Given the description of an element on the screen output the (x, y) to click on. 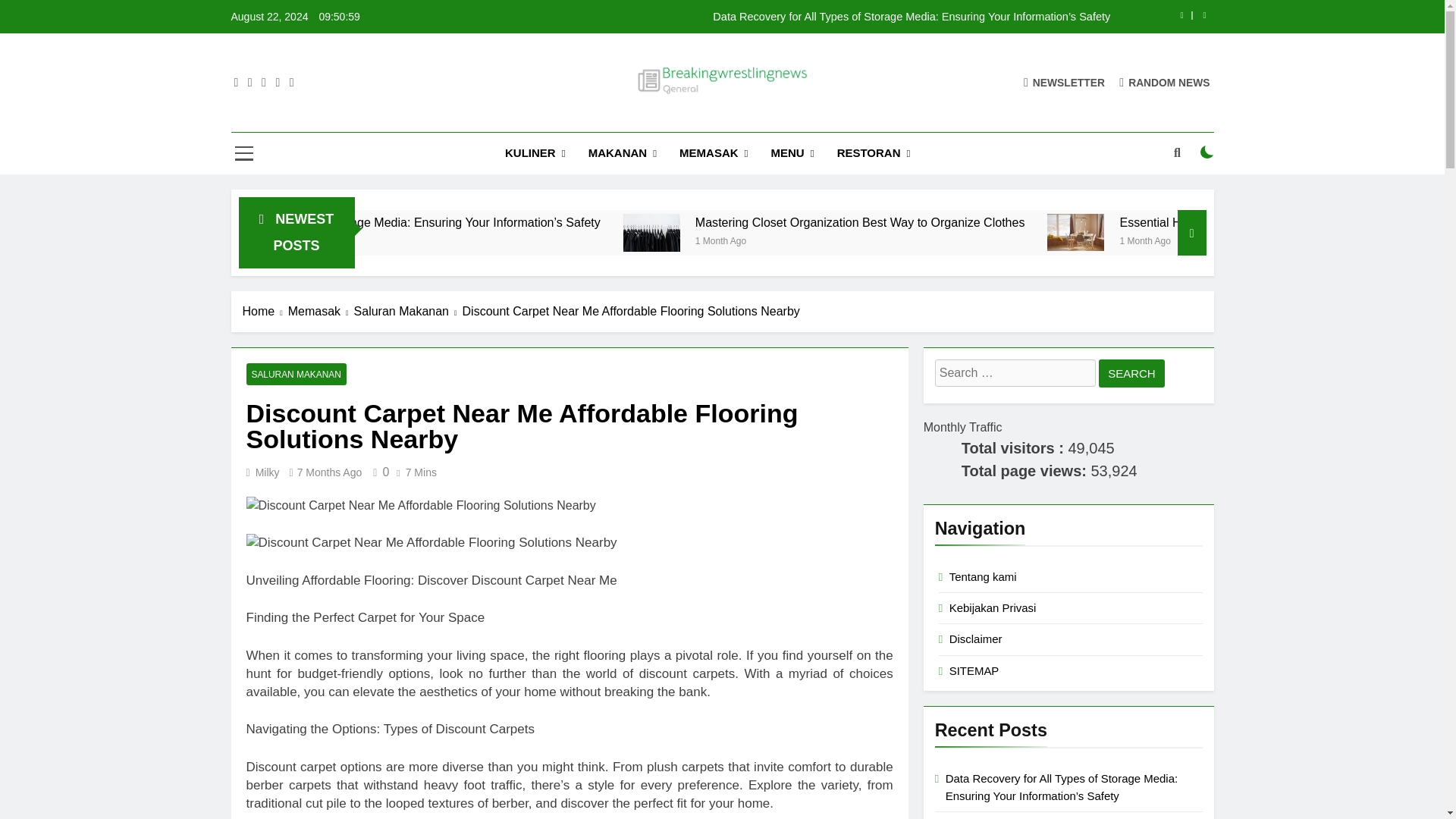
NEWSLETTER (1064, 82)
RANDOM NEWS (1164, 82)
MEMASAK (713, 153)
Search (1131, 373)
Mastering Closet Organization Best Way to Organize Clothes (809, 232)
BREAKINGWRESTLINGNEWS (728, 118)
Mastering Closet Organization Best Way to Organize Clothes (1012, 222)
on (1206, 151)
MAKANAN (622, 153)
Search (1131, 373)
